Given the description of an element on the screen output the (x, y) to click on. 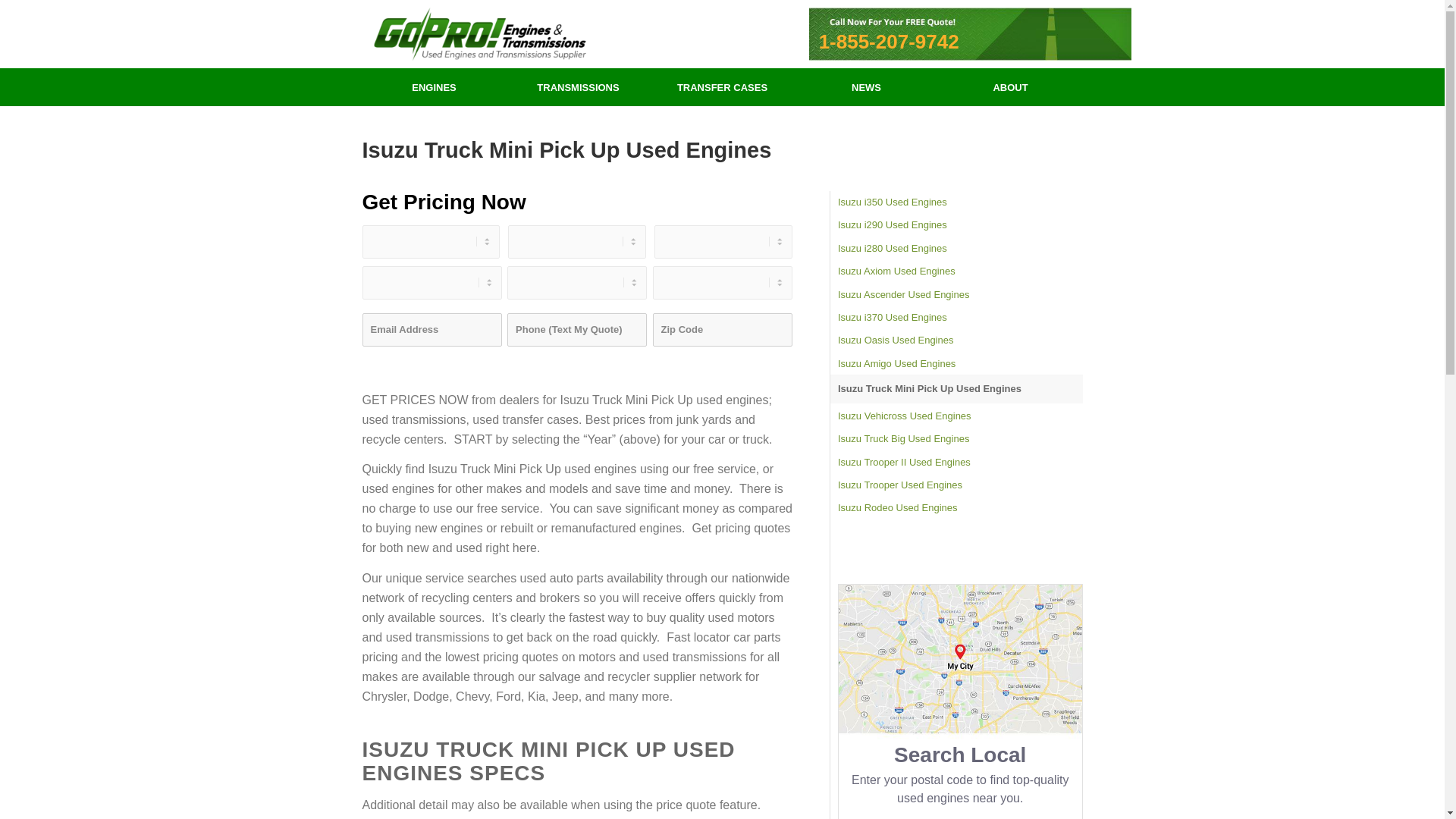
Isuzu Truck Big Used Engines (960, 438)
TRANSMISSIONS (578, 86)
Isuzu Axiom Used Engines (960, 271)
Isuzu Ascender Used Engines (960, 294)
Isuzu i370 Used Engines (960, 317)
NEWS (866, 86)
Isuzu i350 Used Engines (960, 201)
ABOUT (1011, 86)
Isuzu Rodeo Used Engines (960, 507)
ENGINES (434, 86)
